Given the description of an element on the screen output the (x, y) to click on. 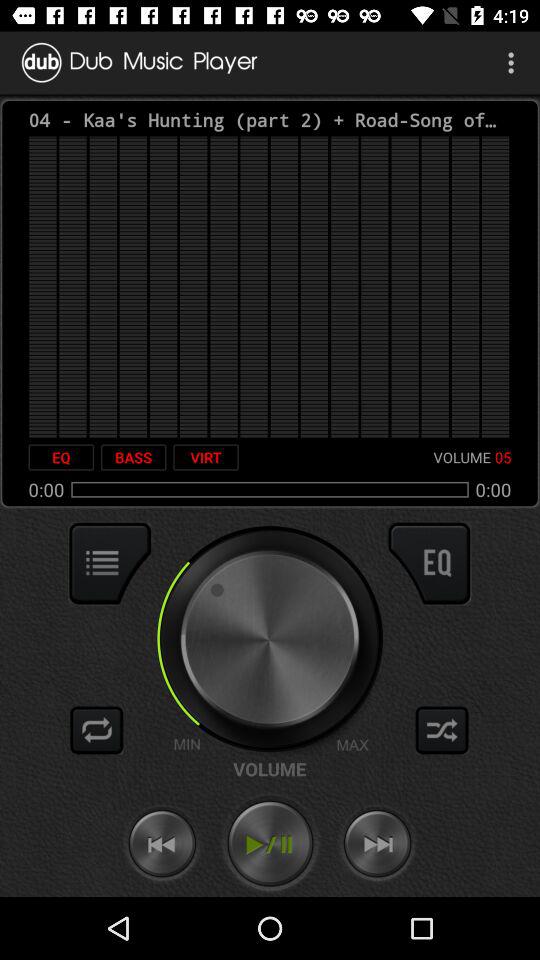
tap the icon to the left of  virt  icon (133, 457)
